Given the description of an element on the screen output the (x, y) to click on. 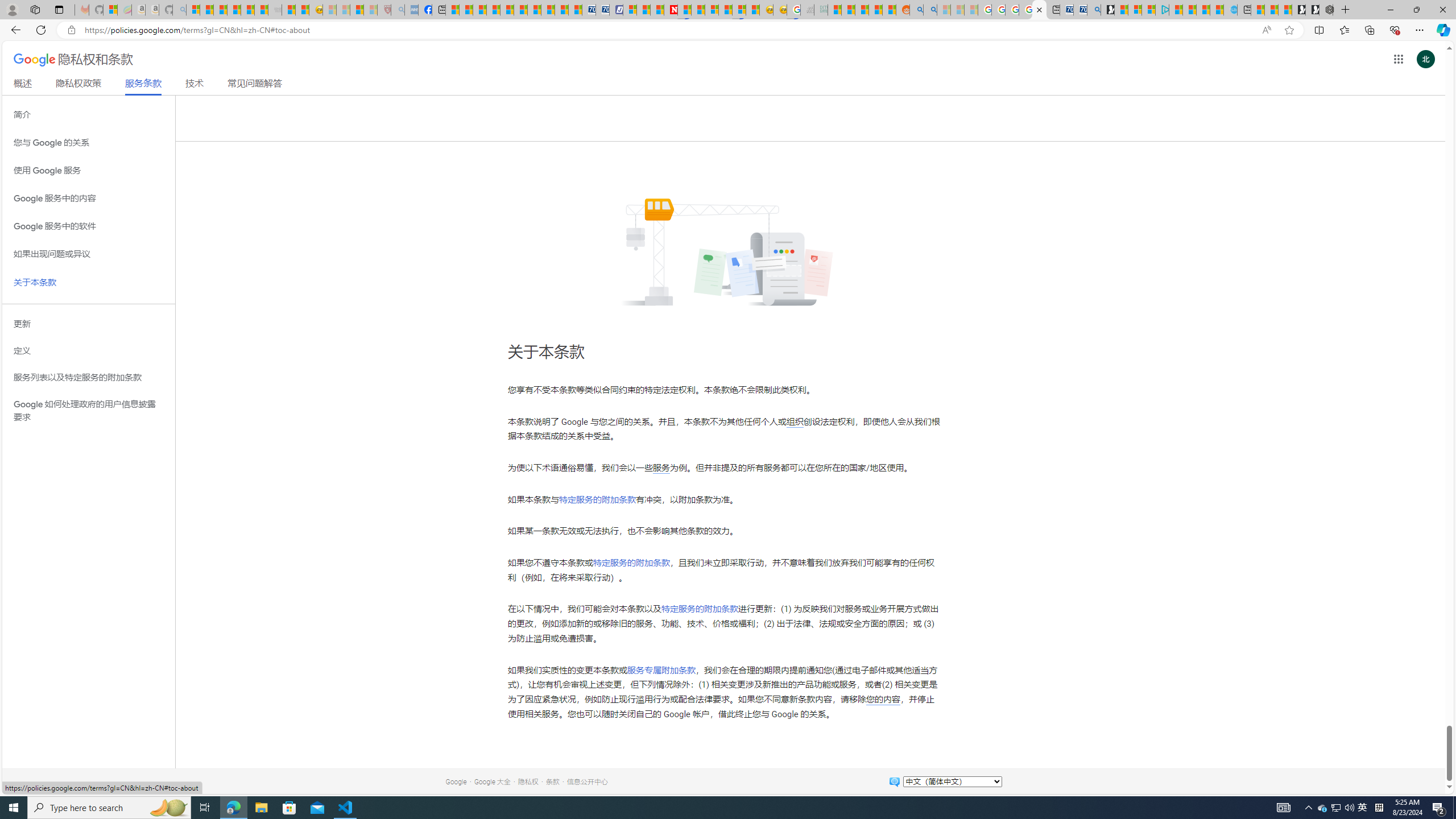
Student Loan Update: Forgiveness Program Ends This Month (874, 9)
Utah sues federal government - Search (930, 9)
